Given the description of an element on the screen output the (x, y) to click on. 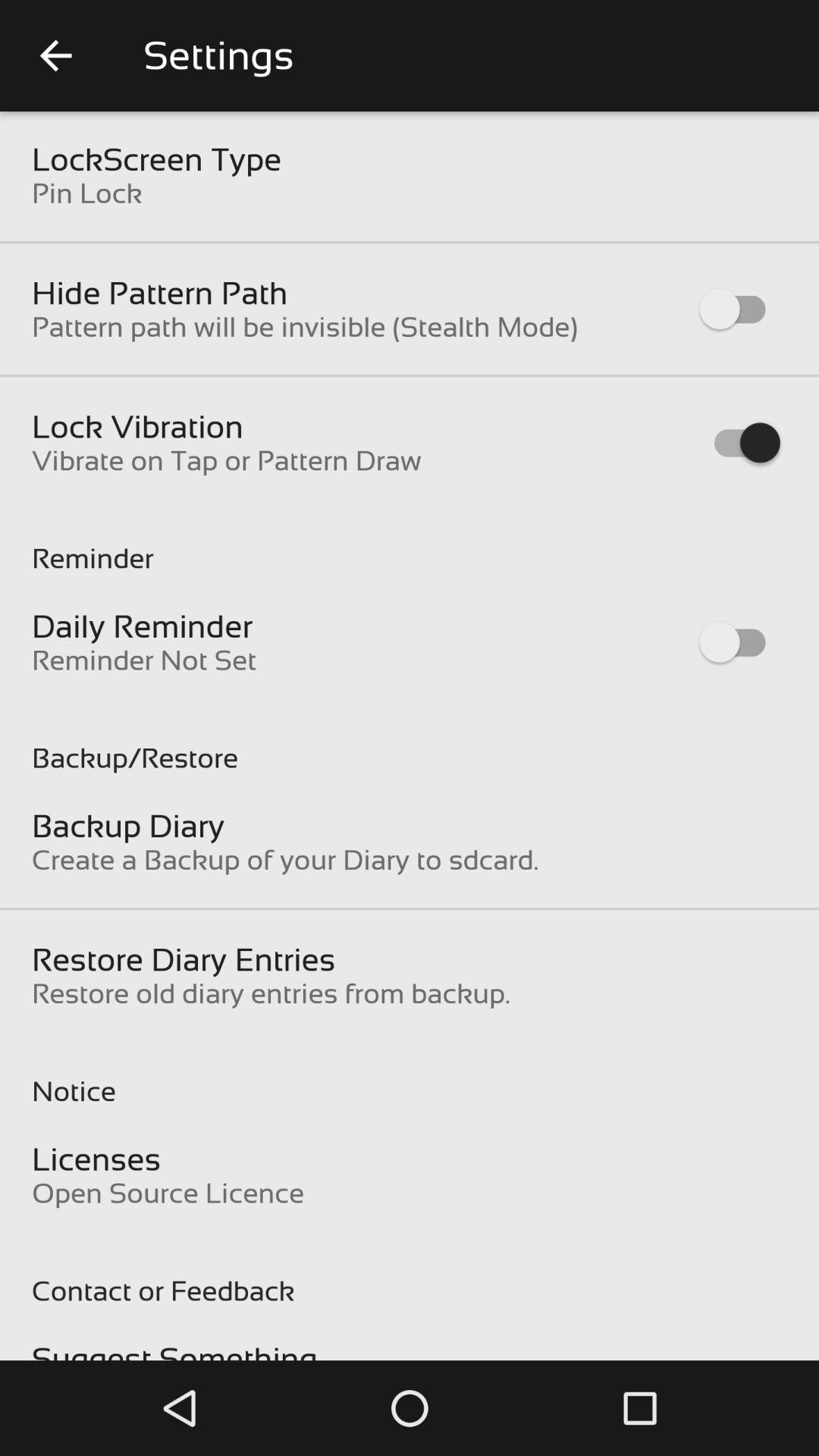
press open source licence item (167, 1193)
